Given the description of an element on the screen output the (x, y) to click on. 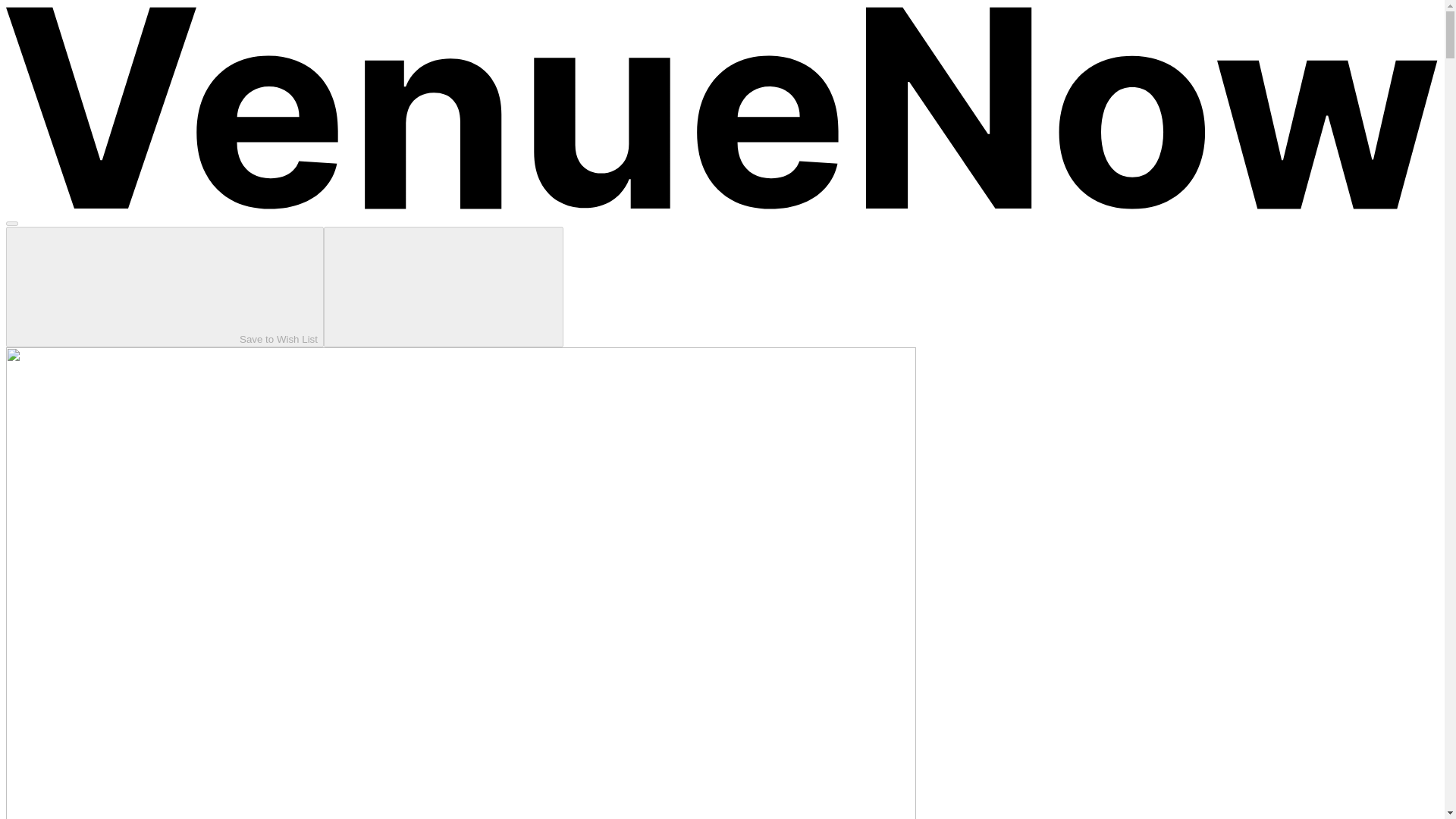
Save to Wish List (443, 286)
Save to Wish List (164, 286)
Open main menu (11, 223)
